Given the description of an element on the screen output the (x, y) to click on. 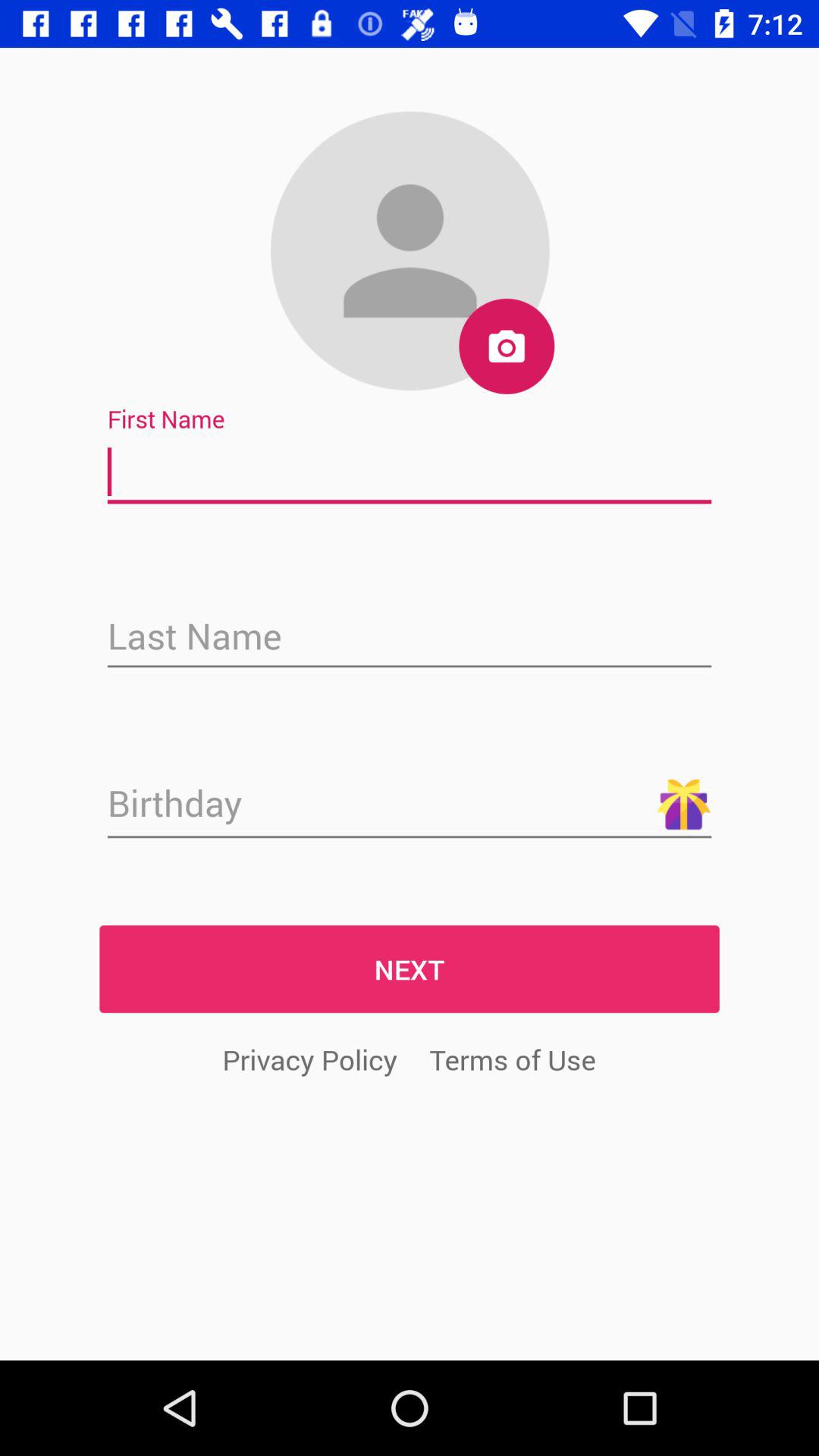
date of birth (409, 804)
